Given the description of an element on the screen output the (x, y) to click on. 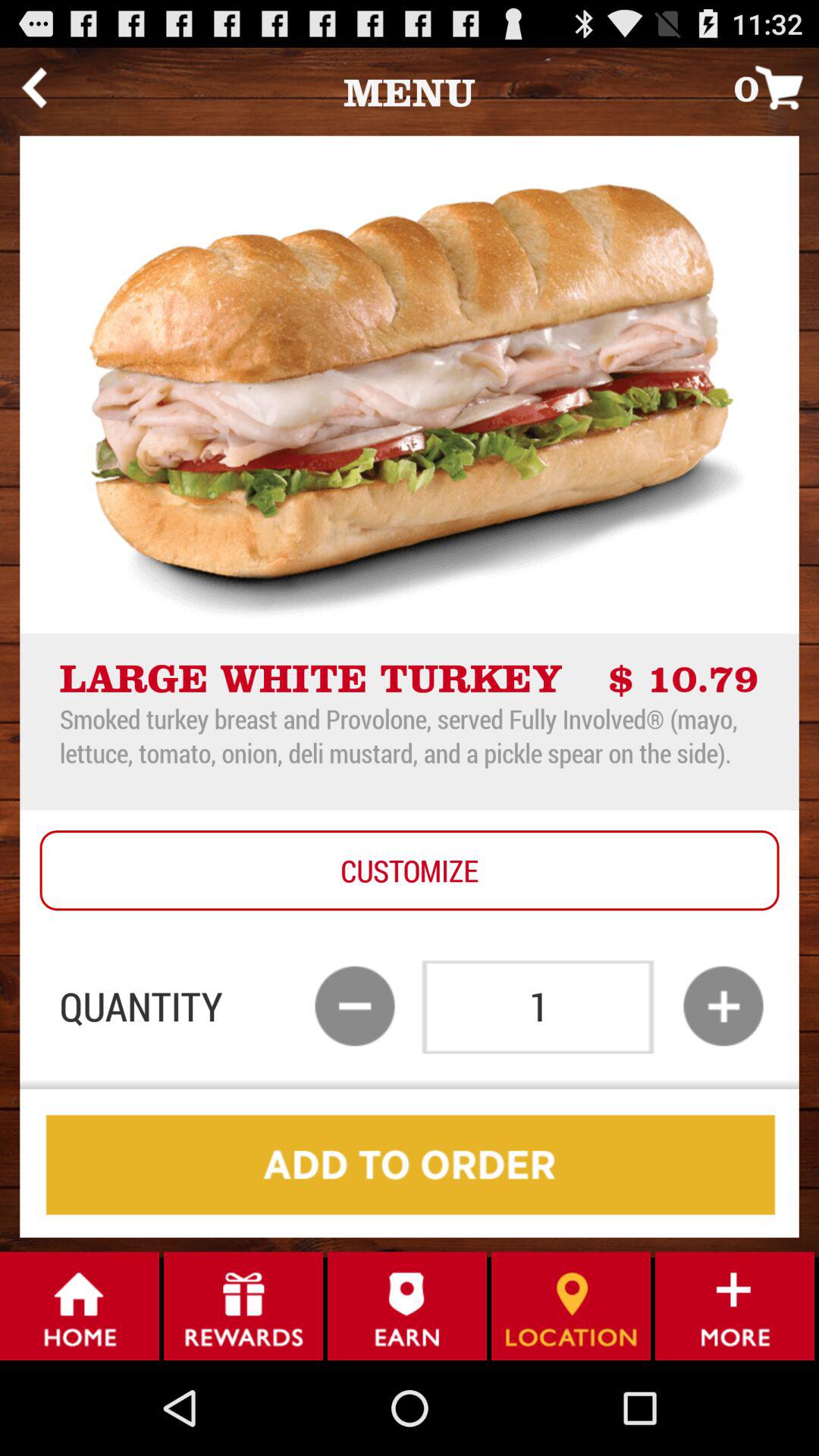
launch the 0 app (776, 87)
